Given the description of an element on the screen output the (x, y) to click on. 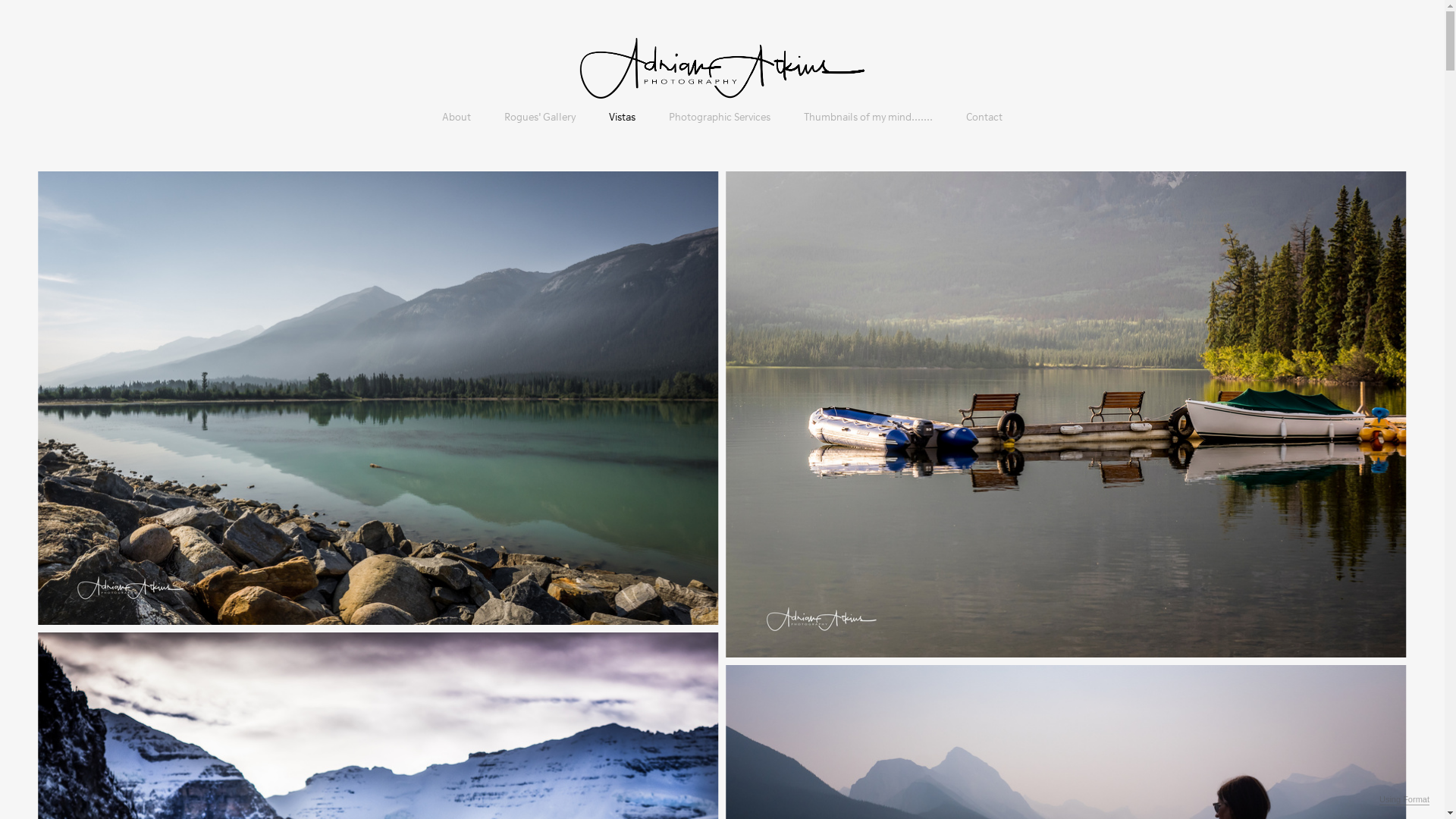
Vistas Element type: text (621, 117)
Thumbnails of my mind....... Element type: text (867, 116)
Rogues' Gallery Element type: text (539, 116)
About Element type: text (456, 116)
Using Format Element type: text (1404, 799)
Contact Element type: text (984, 116)
Photographic Services Element type: text (719, 116)
